Given the description of an element on the screen output the (x, y) to click on. 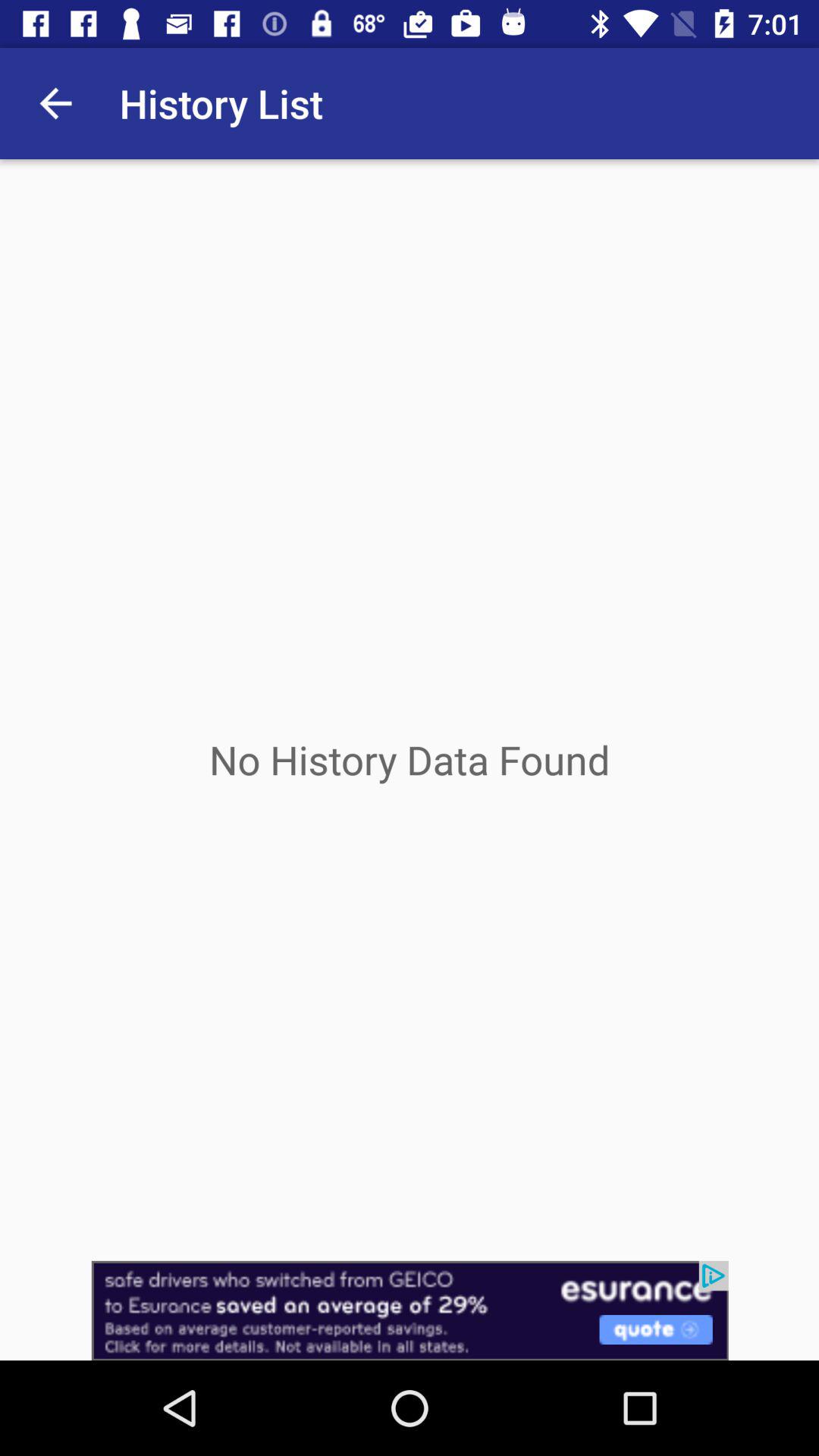
esurance (409, 1310)
